Given the description of an element on the screen output the (x, y) to click on. 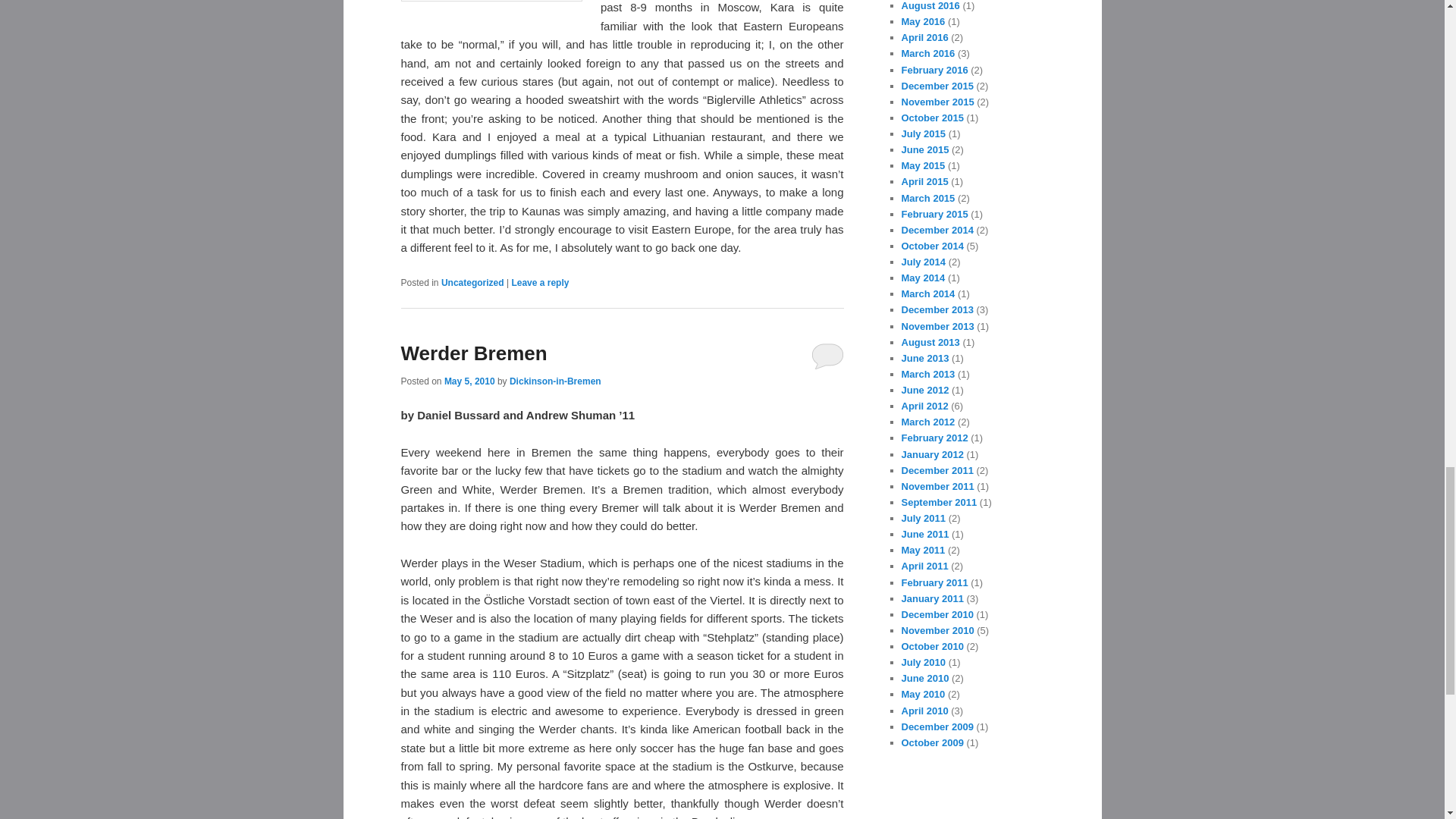
Uncategorized (472, 282)
Werder Bremen (473, 353)
May 5, 2010 (469, 380)
3:41 pm (469, 380)
Dickinson-in-Bremen (555, 380)
View all posts by Dickinson-in-Bremen (555, 380)
Leave a reply (540, 282)
